Given the description of an element on the screen output the (x, y) to click on. 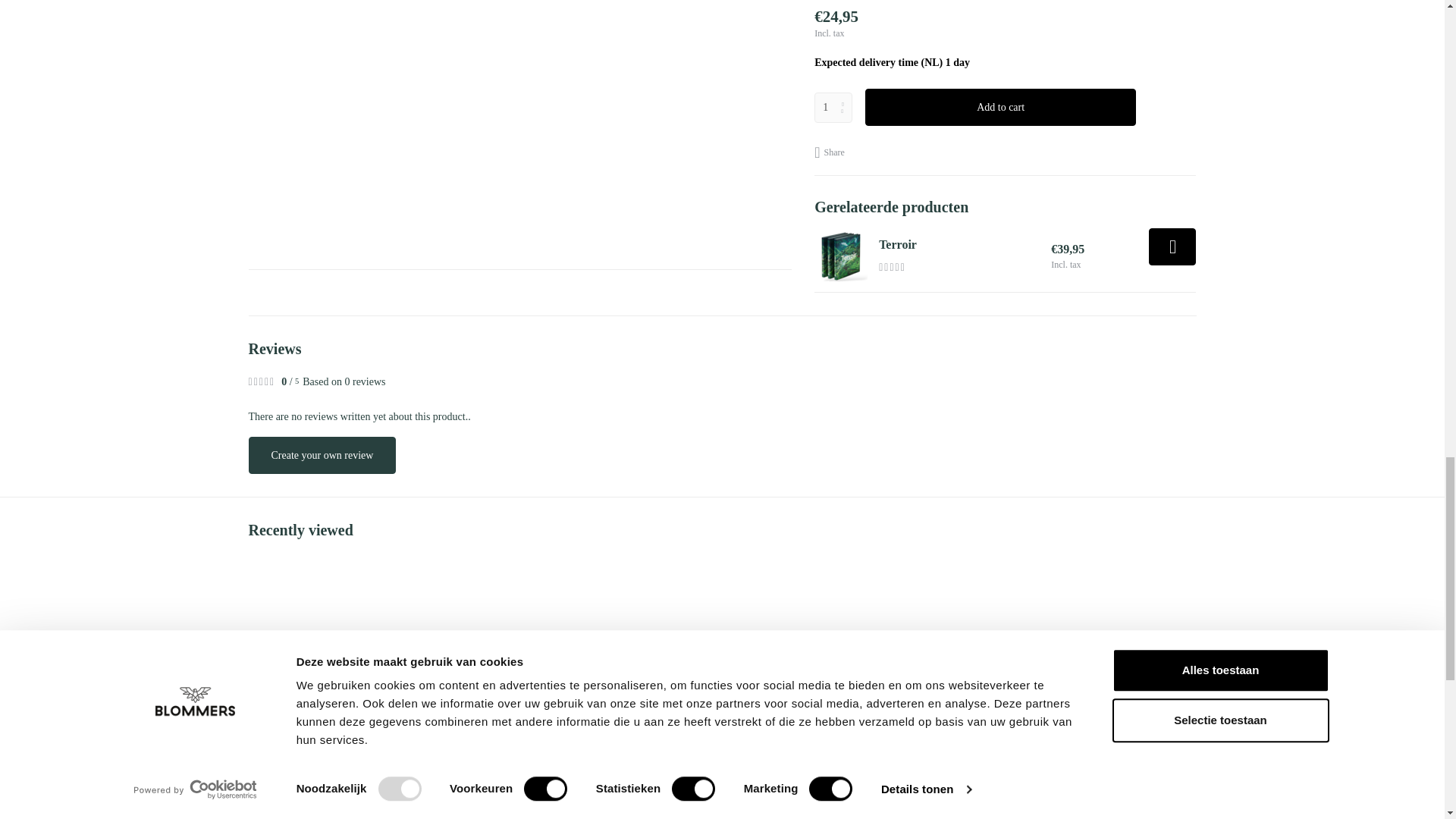
YouTube video player (460, 113)
